Given the description of an element on the screen output the (x, y) to click on. 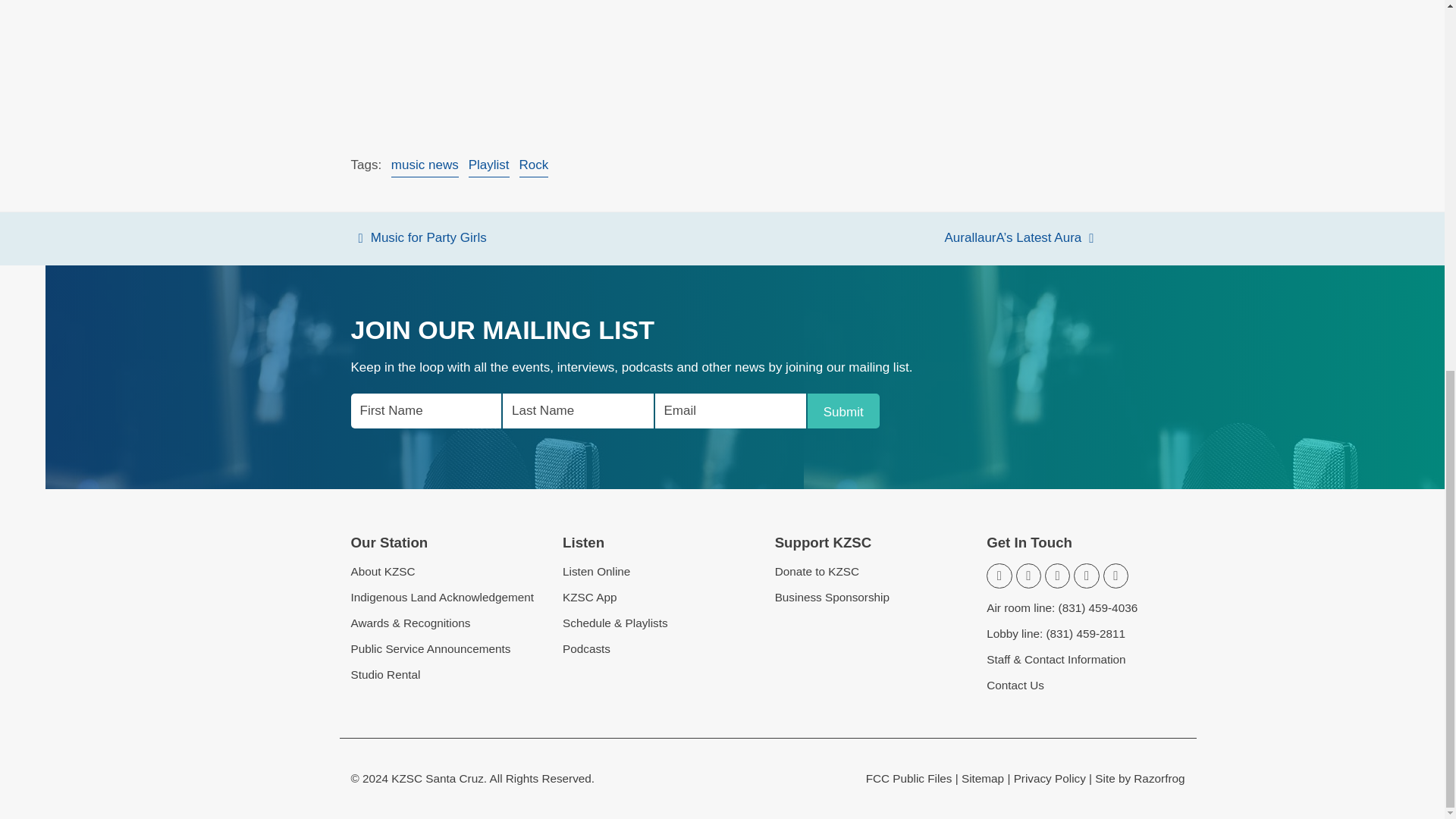
Twitter (999, 575)
Instagram (1057, 575)
Sitemap (982, 778)
Submit (842, 410)
Tiktok (1115, 575)
YouTube (1086, 575)
Facebook (1028, 575)
FCC Files (909, 778)
music news (424, 165)
